Given the description of an element on the screen output the (x, y) to click on. 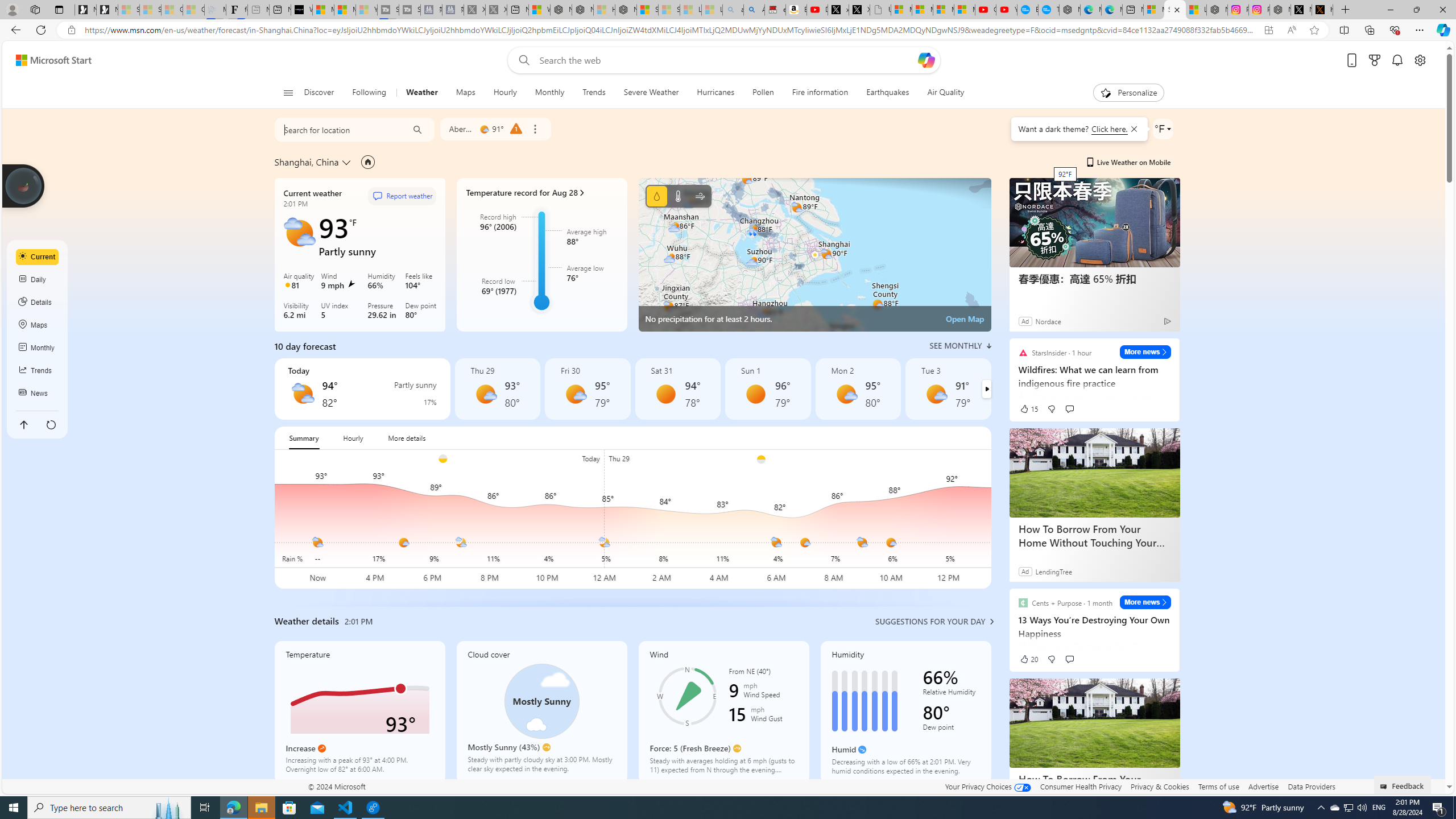
Your Privacy Choices (987, 785)
Privacy & Cookies (1160, 786)
Class: inline-DS-EntryPoint1-1 (582, 192)
Air Quality (940, 92)
Cloud cover (541, 711)
static map image of vector map (814, 254)
